Given the description of an element on the screen output the (x, y) to click on. 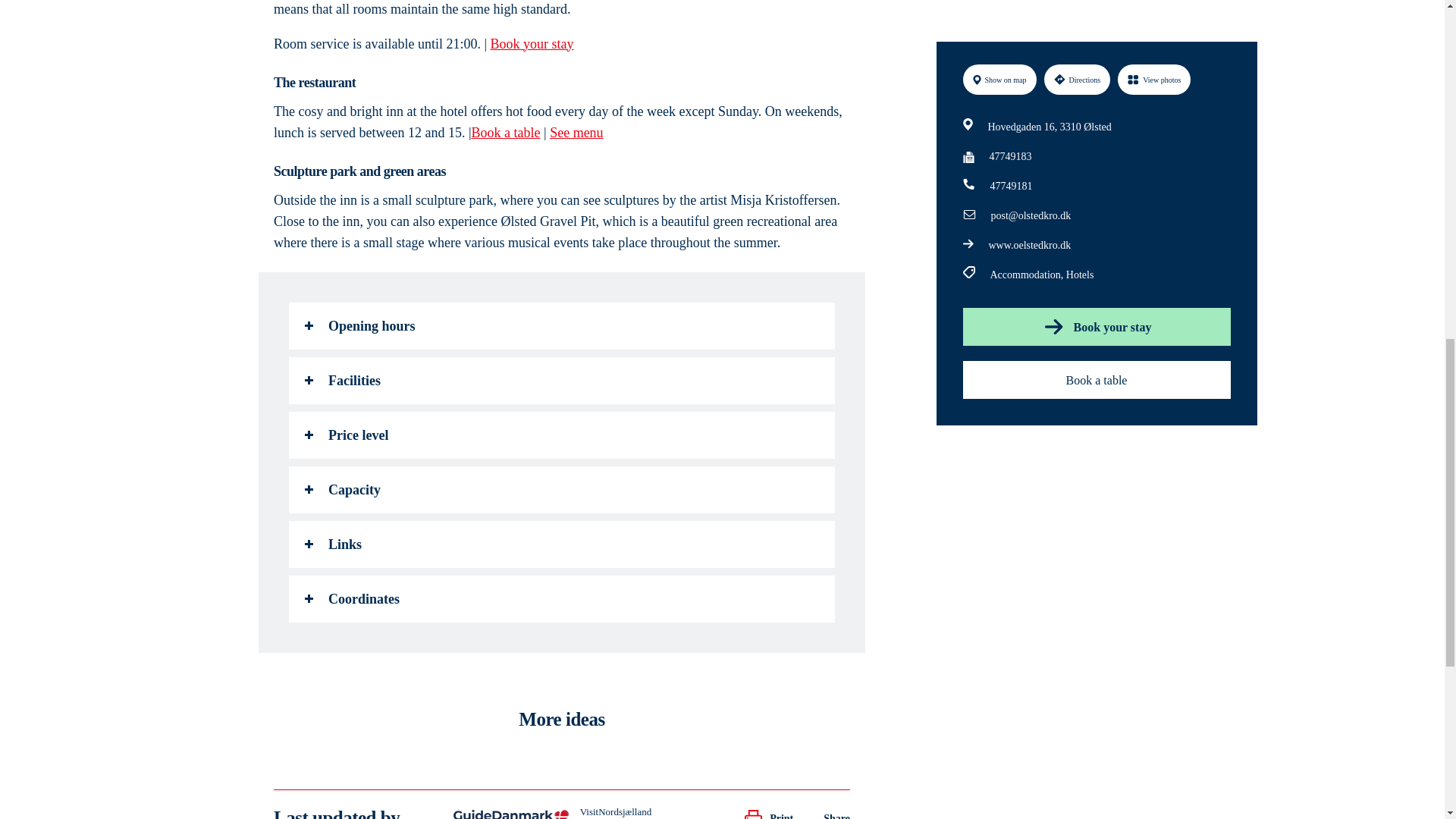
Opening hours (561, 325)
Book a table (505, 132)
Coordinates (561, 598)
Book your stay (531, 43)
Price level (561, 434)
Links (561, 544)
Capacity (561, 489)
Facilities (561, 380)
See menu (576, 132)
